Given the description of an element on the screen output the (x, y) to click on. 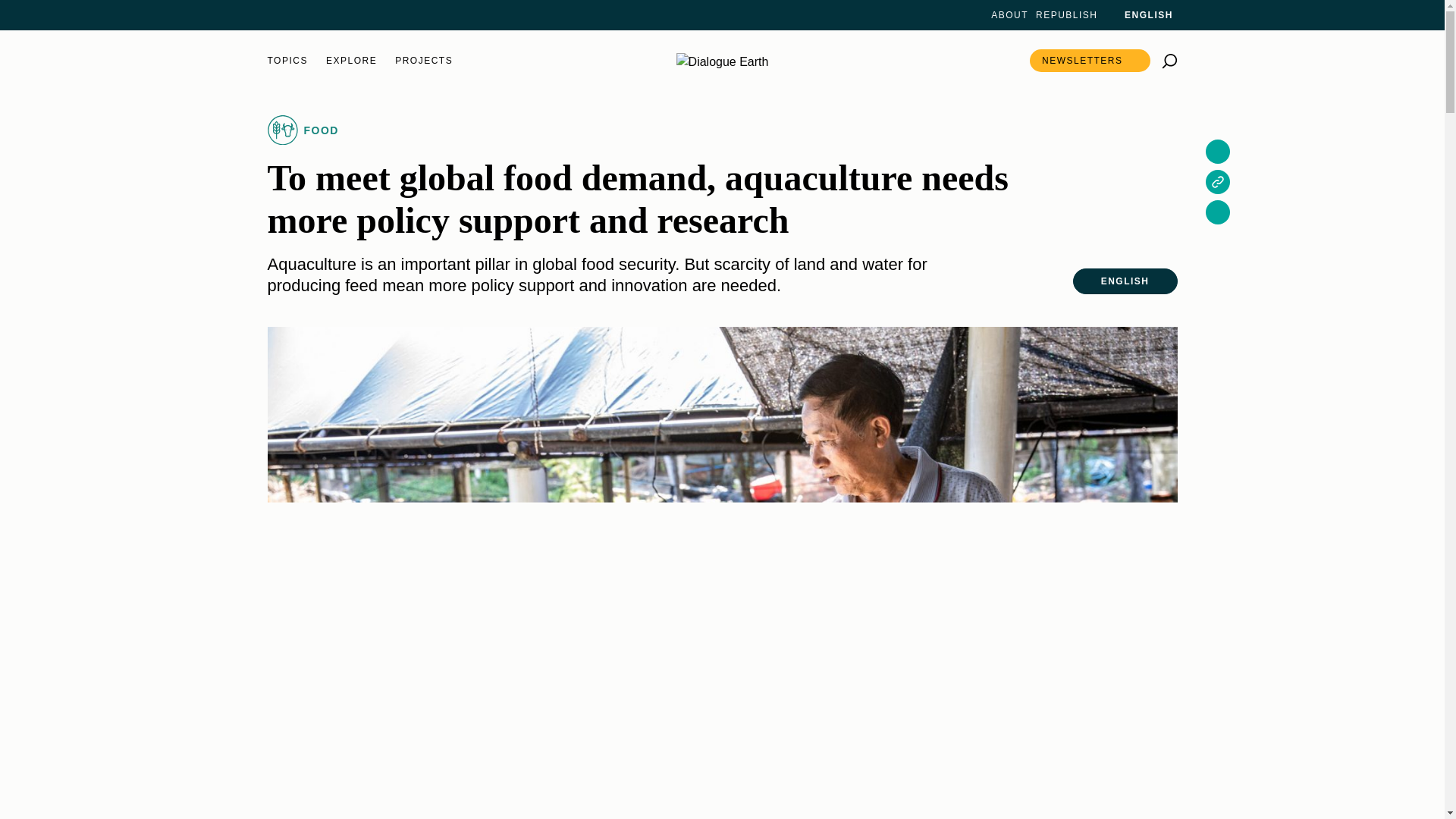
ENGLISH (1139, 15)
English (1139, 15)
ABOUT (1009, 14)
REPUBLISH (1066, 14)
EXPLORE (351, 60)
TOPICS (286, 60)
